Given the description of an element on the screen output the (x, y) to click on. 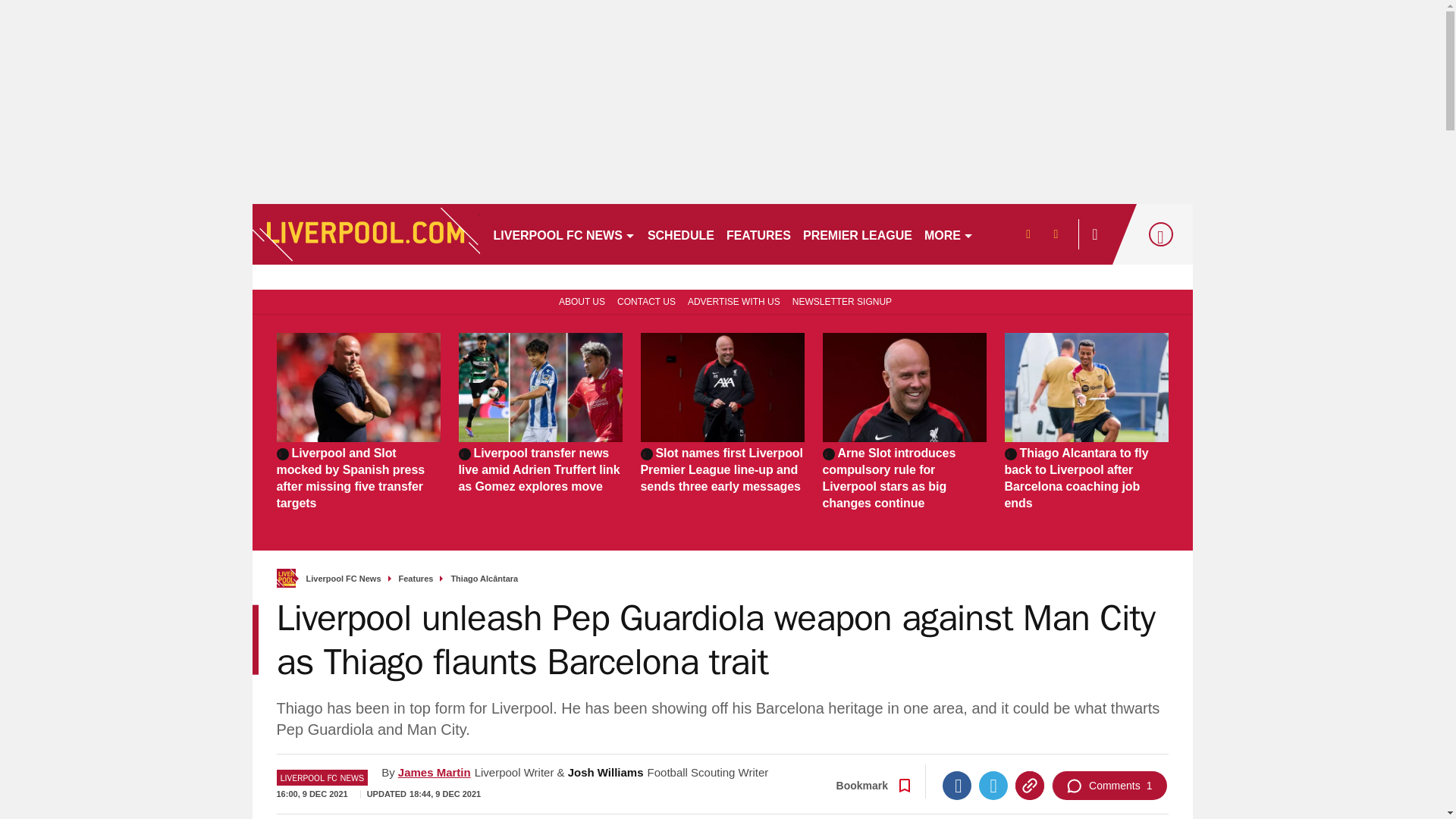
PREMIER LEAGUE (857, 233)
twitter (1055, 233)
Facebook (956, 785)
MORE (948, 233)
SCHEDULE (681, 233)
NEWSLETTER SIGNUP (842, 300)
Liverpool FC News (343, 578)
